Given the description of an element on the screen output the (x, y) to click on. 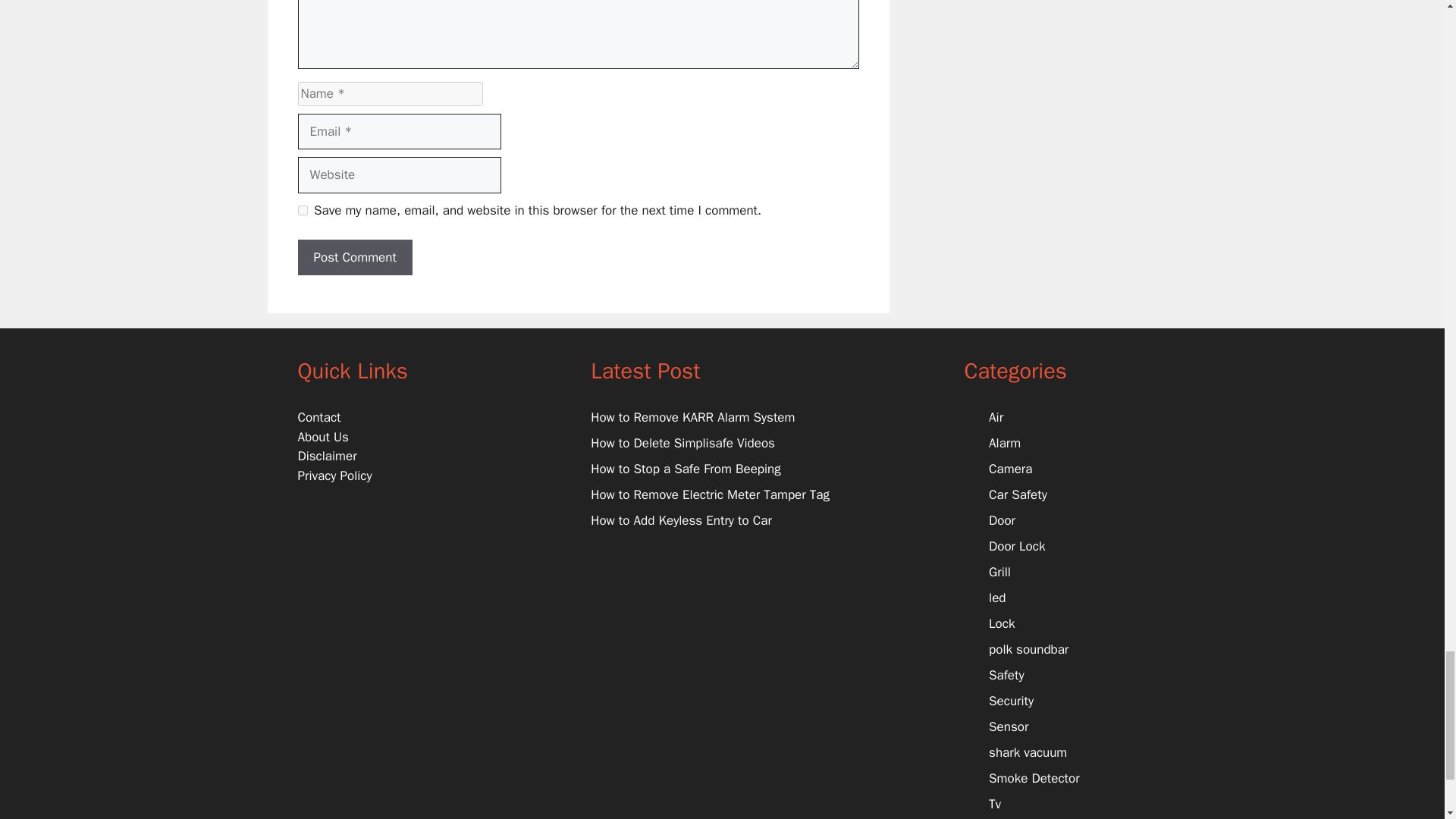
Post Comment (354, 257)
yes (302, 210)
Post Comment (354, 257)
Contact (318, 417)
About Us (322, 437)
Disclaimer (326, 455)
